Given the description of an element on the screen output the (x, y) to click on. 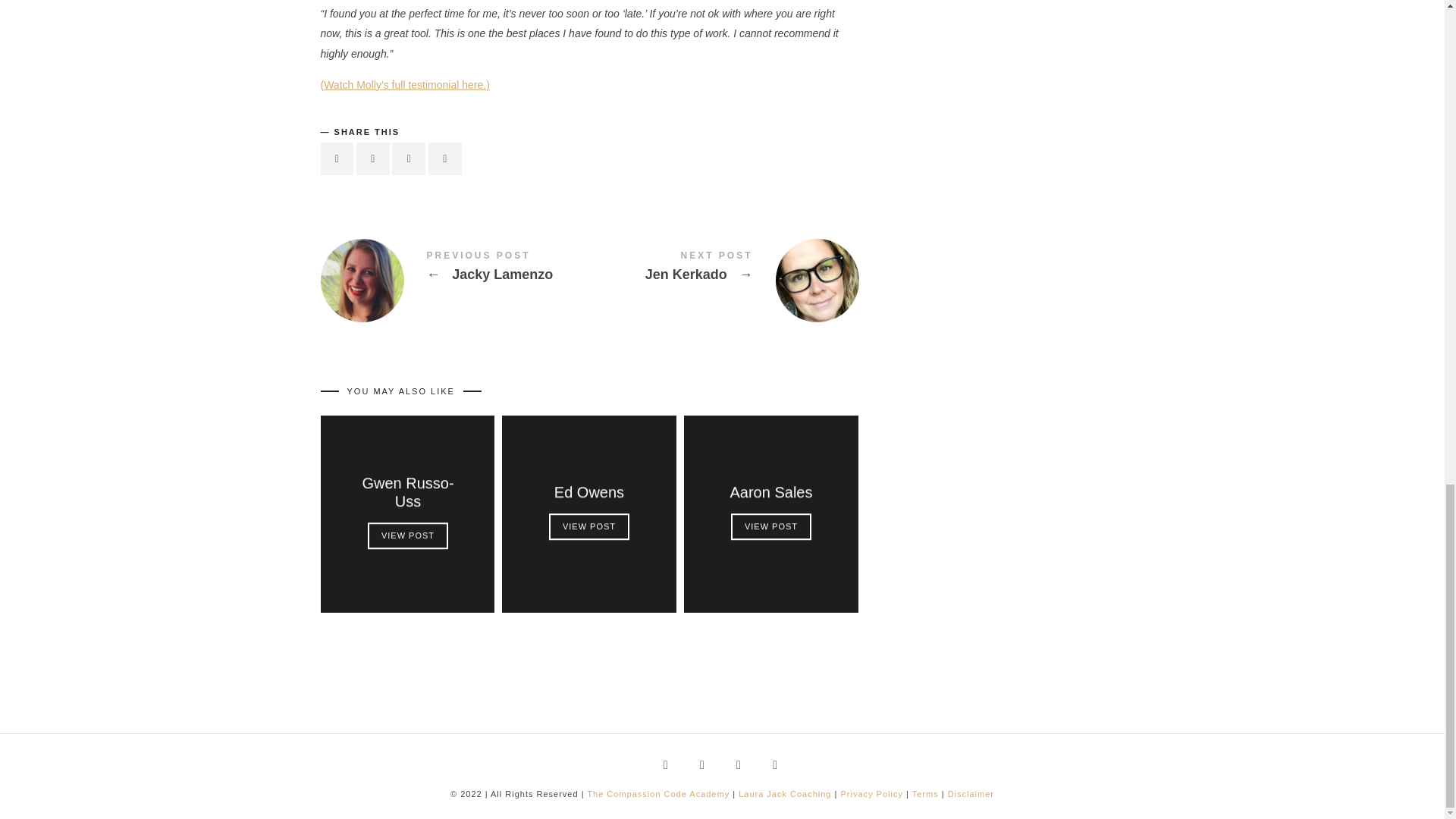
Share this post on Facebook (336, 158)
Pin it (408, 158)
Tweet this post to your followers (373, 158)
Email this post to a friend (444, 158)
